Given the description of an element on the screen output the (x, y) to click on. 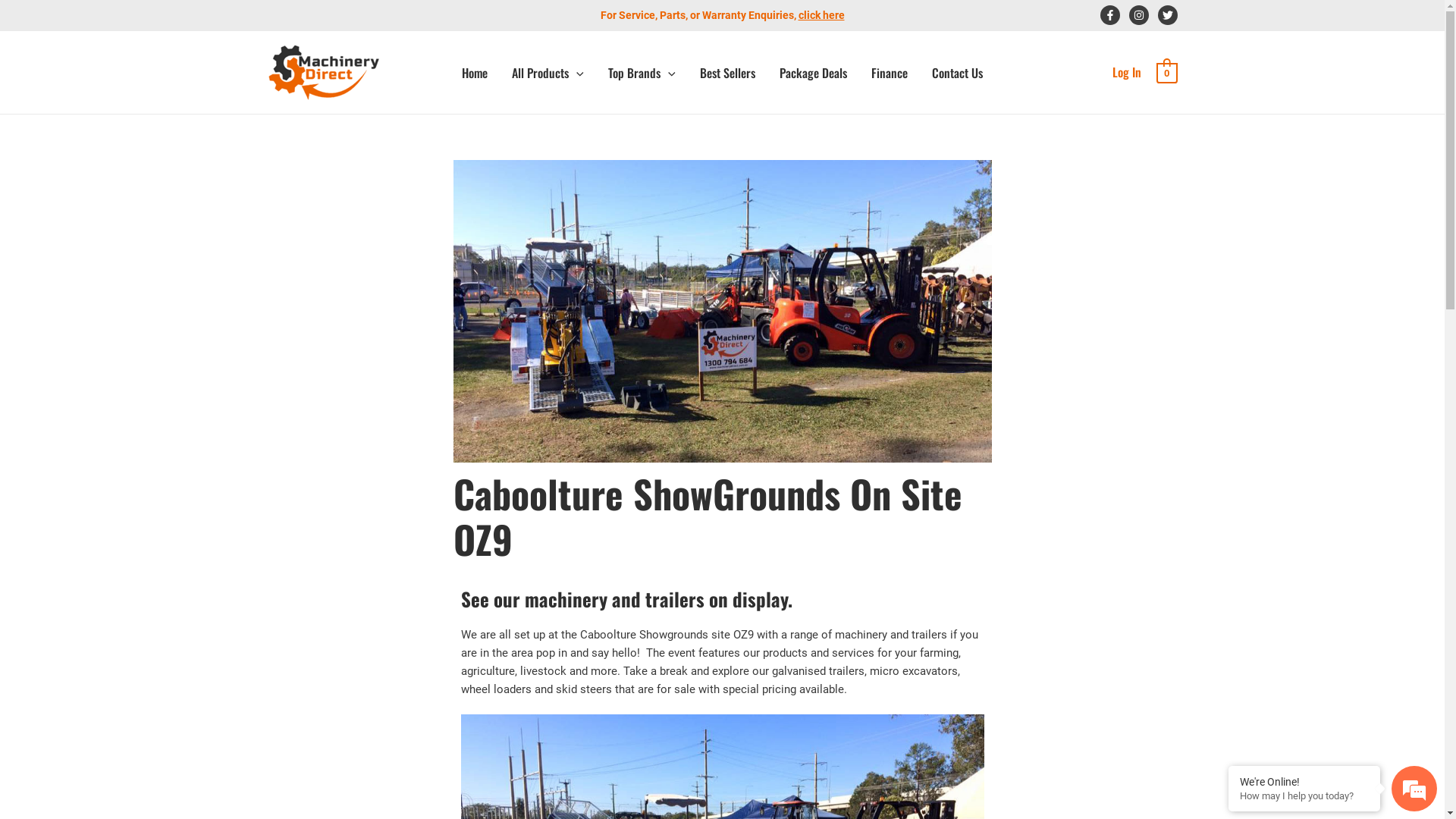
Top Brands Element type: text (641, 72)
Finance Element type: text (889, 72)
Contact Us Element type: text (956, 72)
Log In Element type: text (1126, 71)
Home Element type: text (474, 72)
All Products Element type: text (547, 72)
Package Deals Element type: text (813, 72)
For Service, Parts, or Warranty Enquiries, click here Element type: text (722, 15)
0 Element type: text (1166, 71)
Best Sellers Element type: text (727, 72)
